Given the description of an element on the screen output the (x, y) to click on. 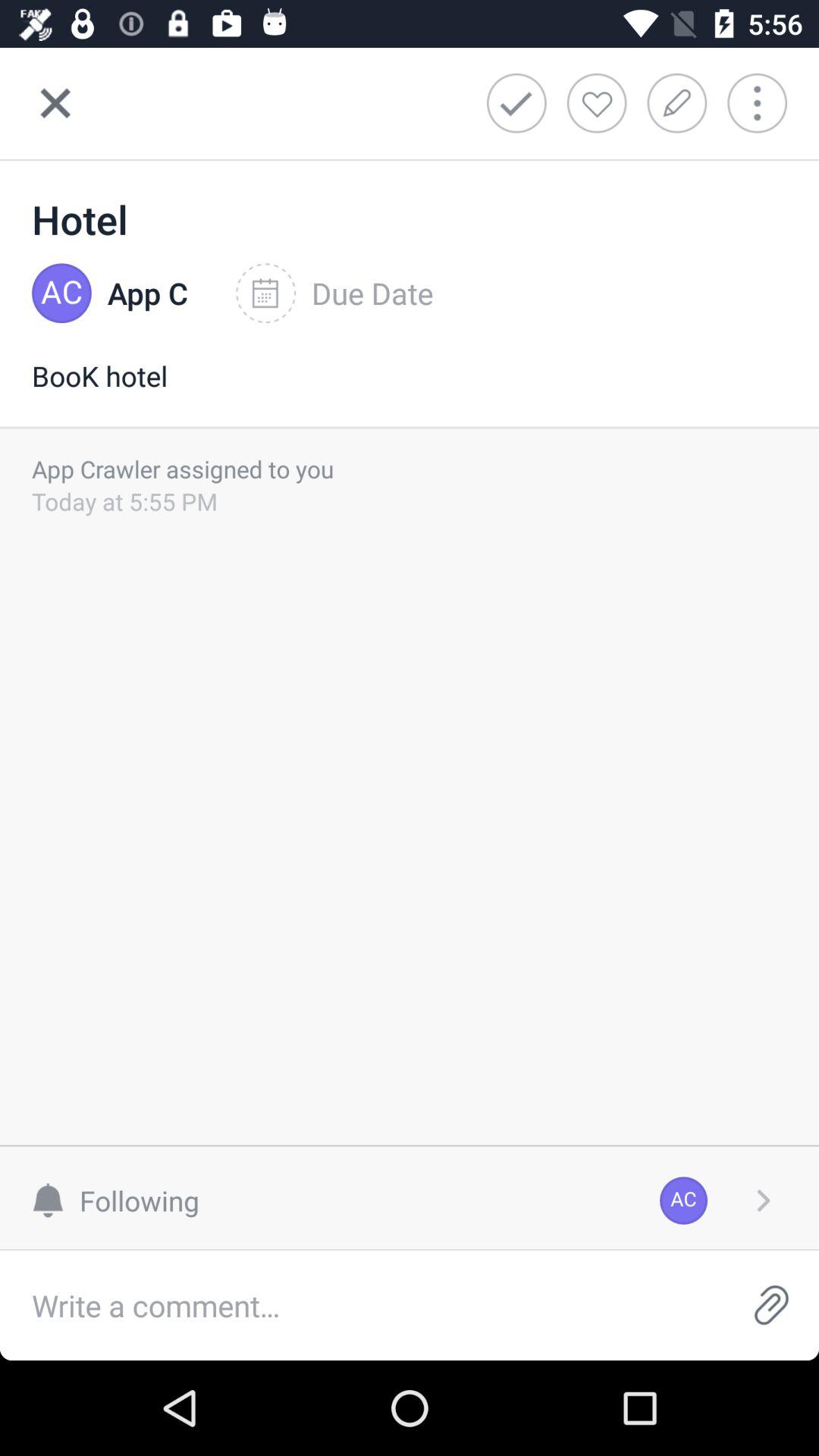
turn off the item next to the ac icon (123, 1200)
